Given the description of an element on the screen output the (x, y) to click on. 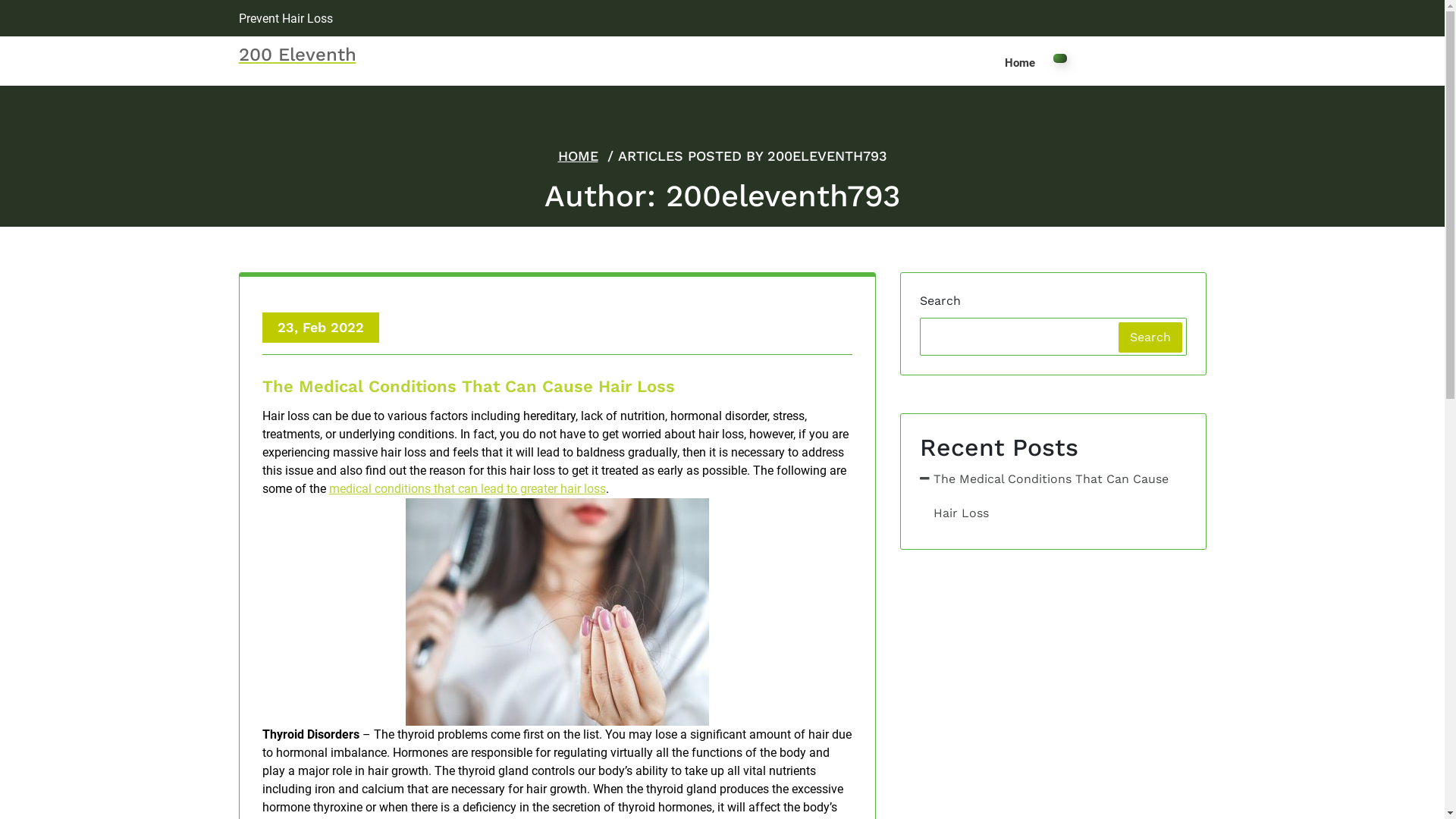
200 Eleventh Element type: text (296, 54)
HOME Element type: text (578, 155)
The Medical Conditions That Can Cause Hair Loss Element type: text (557, 388)
medical conditions that can lead to greater hair loss Element type: text (467, 488)
Home Element type: text (1019, 62)
Search Element type: text (1149, 337)
The Medical Conditions That Can Cause Hair Loss Element type: text (1052, 495)
